Given the description of an element on the screen output the (x, y) to click on. 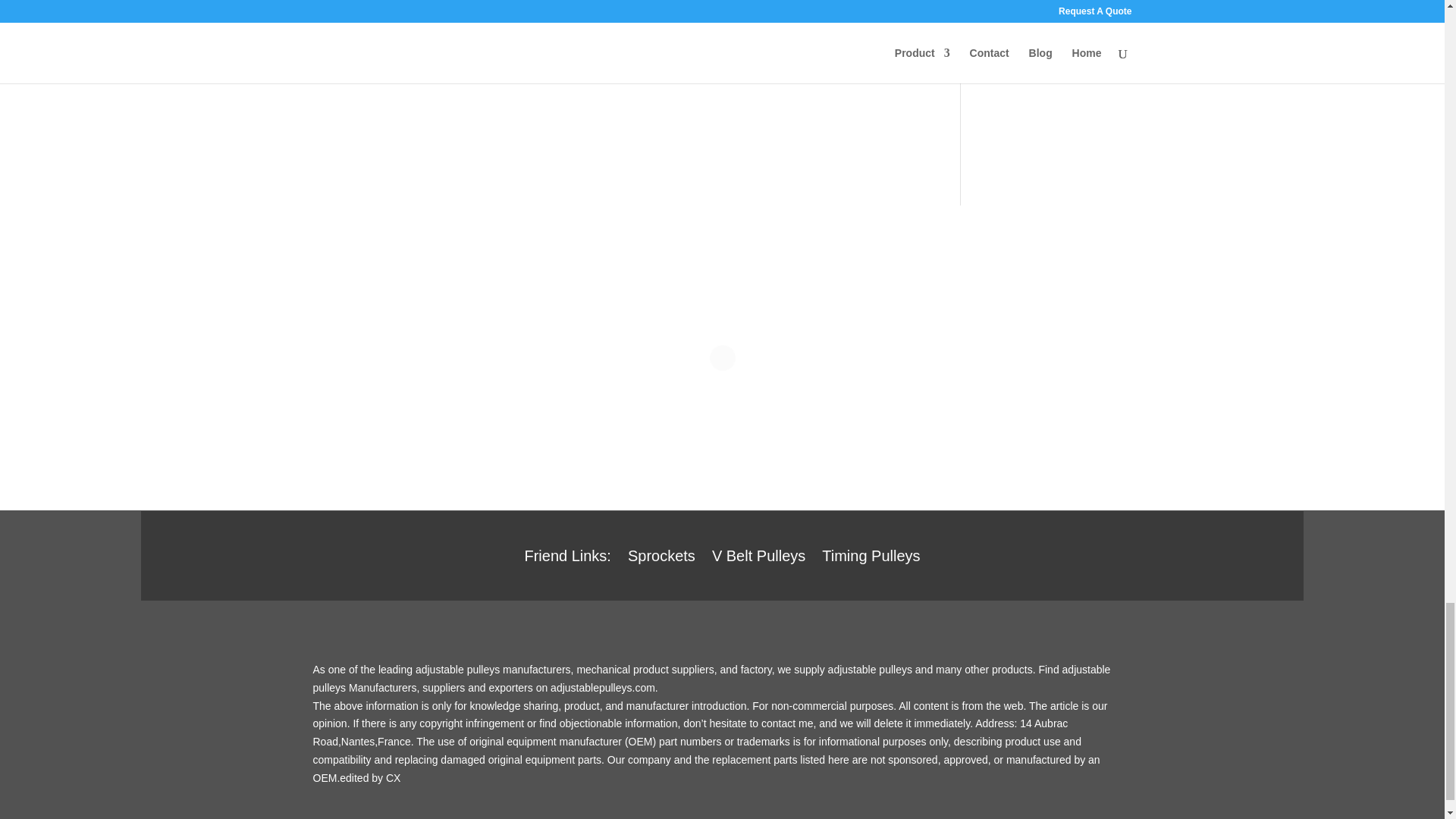
Friend Links: (567, 558)
V Belt Pulleys (758, 558)
Sprockets (661, 558)
Timing Pulleys (871, 558)
